Given the description of an element on the screen output the (x, y) to click on. 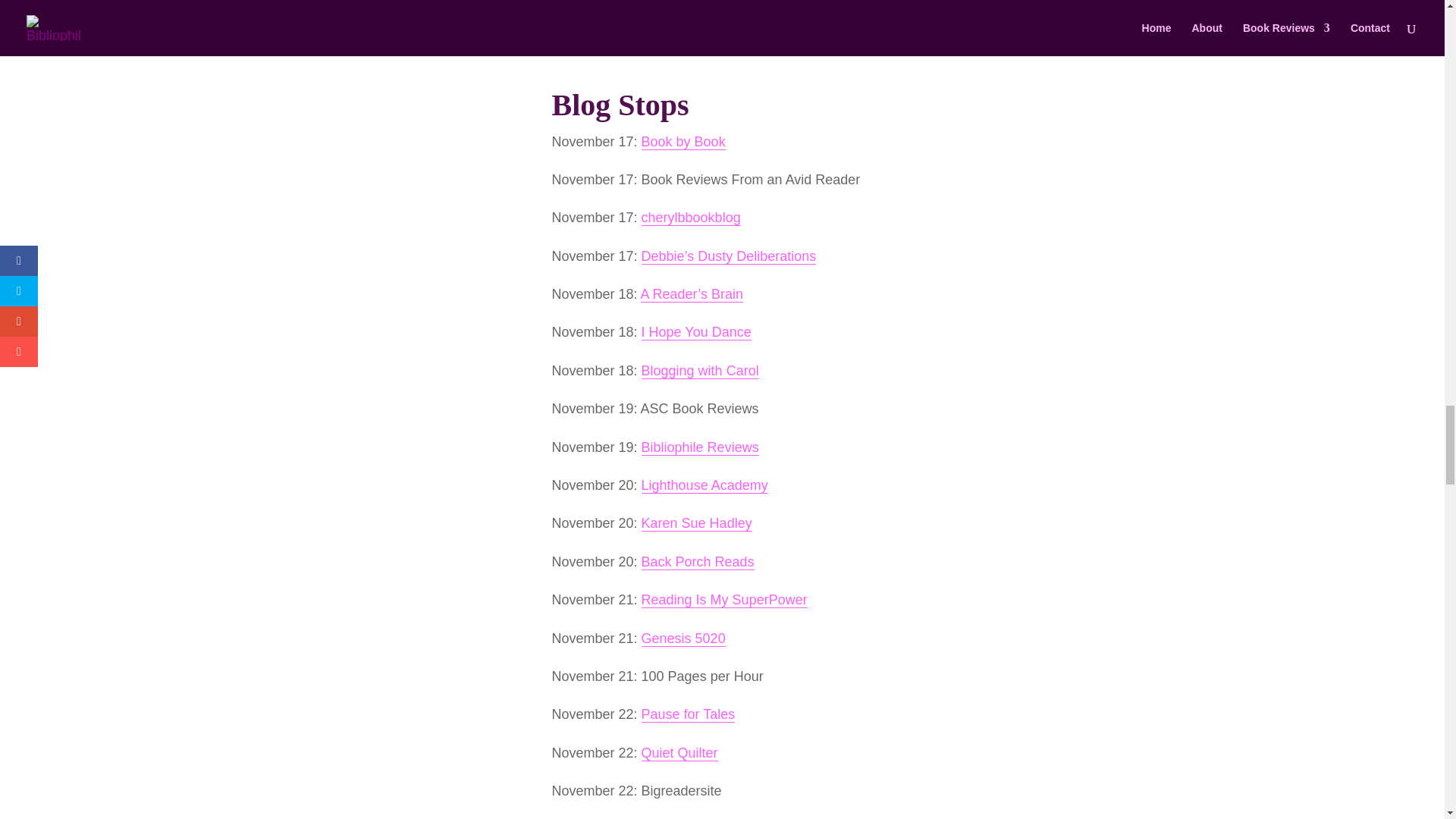
Back Porch Reads (698, 562)
Blogging with Carol (700, 371)
Quiet Quilter (679, 753)
Reading Is My SuperPower (725, 600)
Karen Sue Hadley (697, 523)
Genesis 5020 (683, 638)
I Hope You Dance (696, 332)
Book by Book (683, 141)
cherylbbookblog (691, 217)
Lighthouse Academy (705, 485)
Pause for Tales (688, 714)
Bibliophile Reviews (700, 447)
